Given the description of an element on the screen output the (x, y) to click on. 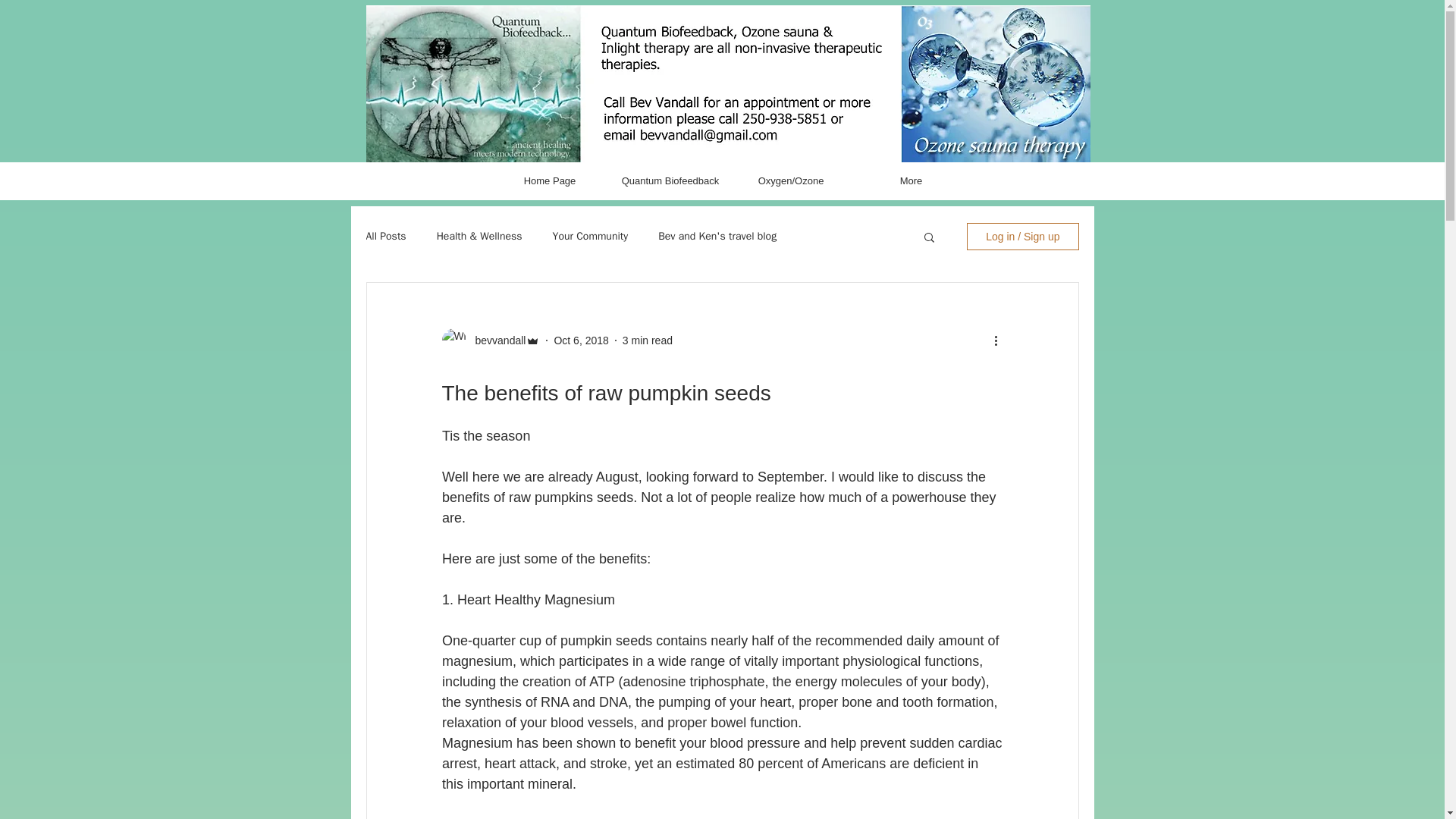
3 min read (647, 339)
Oct 6, 2018 (580, 339)
Quantum Biofeedback (670, 181)
Home Page (550, 181)
bevvandall (495, 340)
Your Community (590, 236)
Bev and Ken's travel blog (717, 236)
All Posts (385, 236)
